Given the description of an element on the screen output the (x, y) to click on. 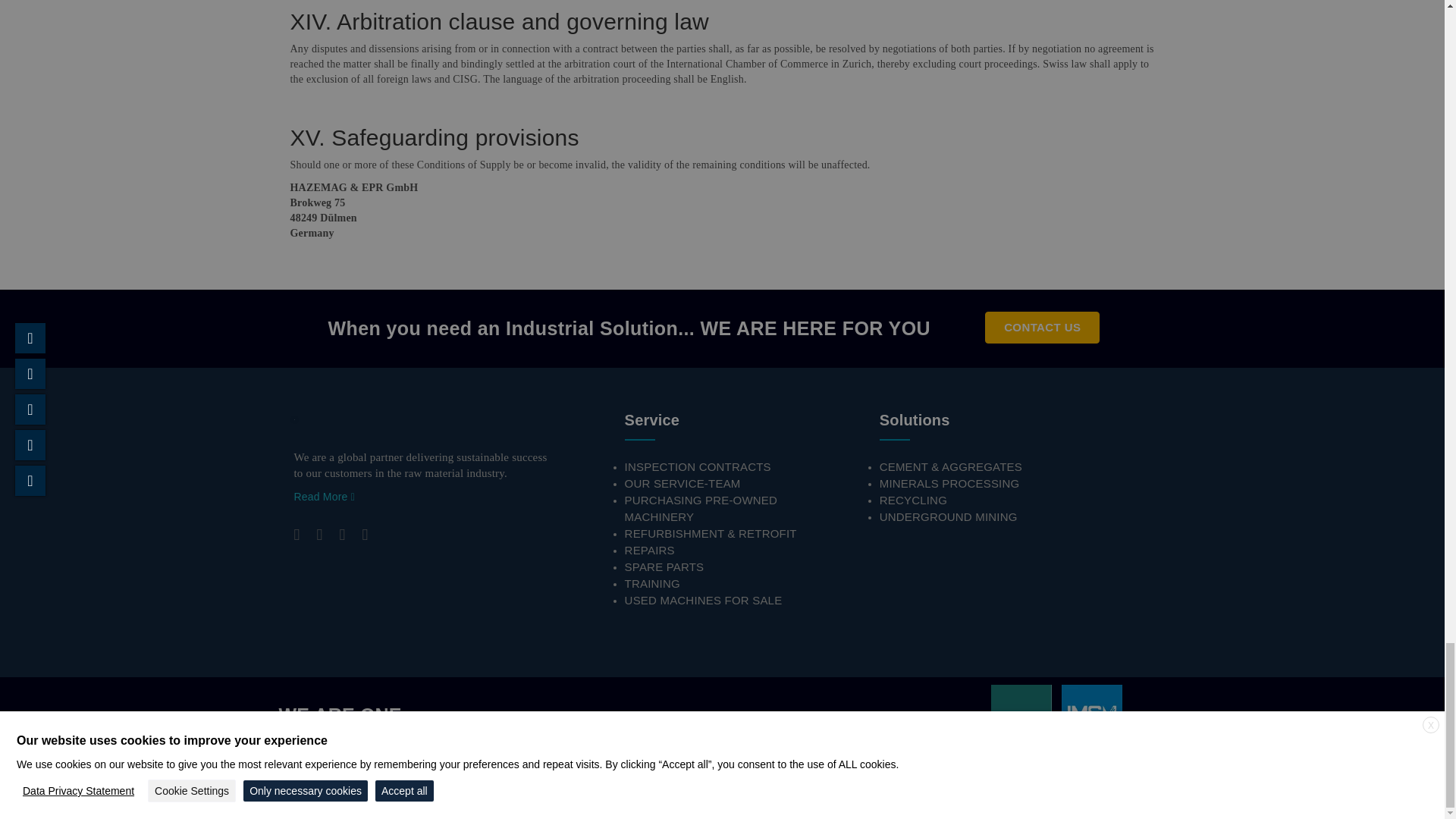
Linkedin (318, 535)
Instagram (342, 535)
Facebook (296, 535)
Youtube (364, 535)
